Given the description of an element on the screen output the (x, y) to click on. 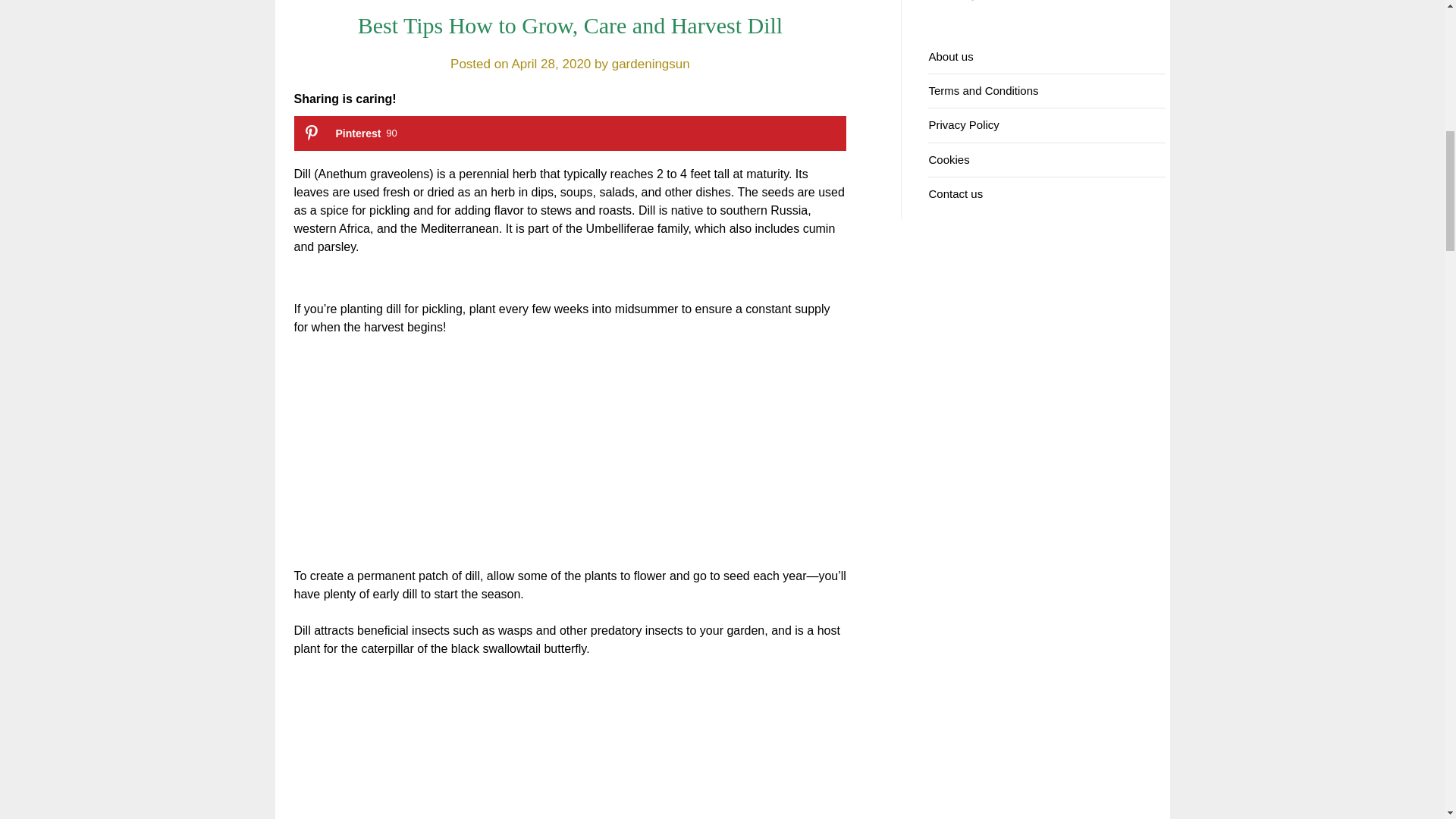
Contact us (955, 193)
gardeningsun (650, 63)
Privacy Policy (963, 124)
Advertisement (570, 460)
Cookies (948, 159)
Save to Pinterest (570, 133)
About us (950, 56)
Terms and Conditions (983, 90)
April 28, 2020 (570, 133)
